Given the description of an element on the screen output the (x, y) to click on. 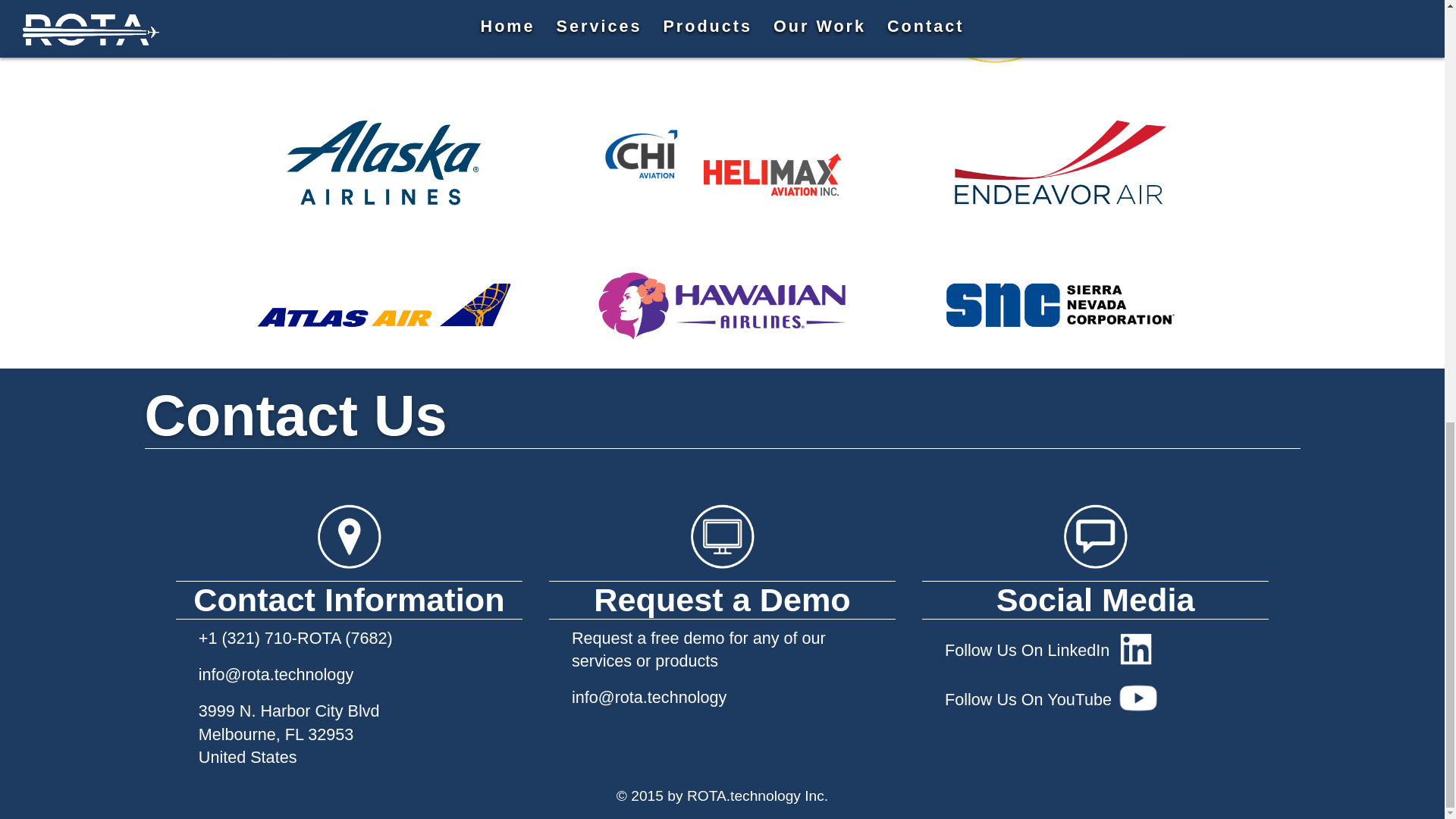
Follow Us On LinkedIn (1095, 651)
